Given the description of an element on the screen output the (x, y) to click on. 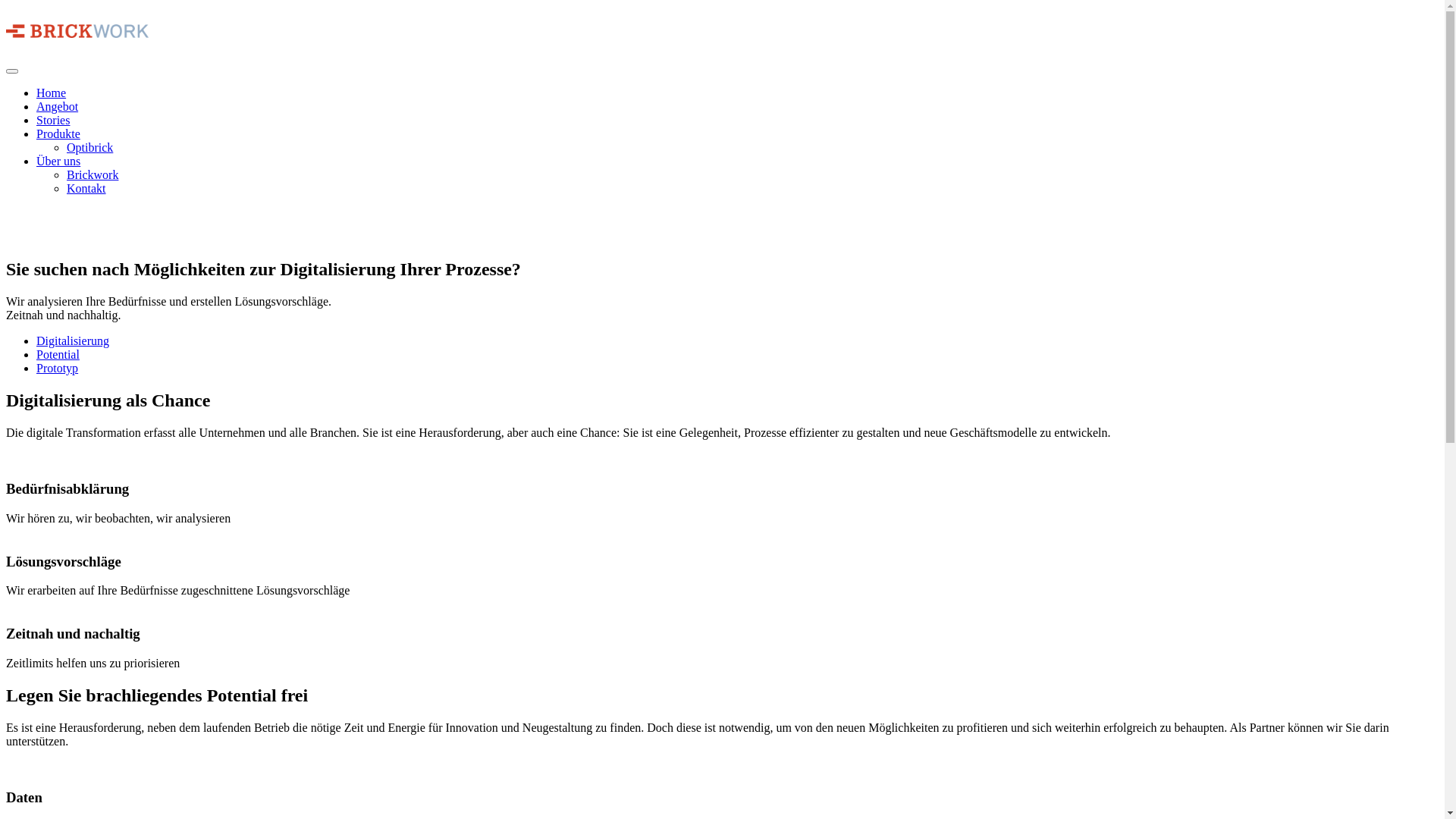
Potential Element type: text (57, 354)
Digitalisierung Element type: text (72, 340)
Angebot Element type: text (57, 106)
Prototyp Element type: text (57, 367)
Stories Element type: text (52, 119)
Home Element type: text (50, 92)
Optibrick Element type: text (89, 147)
Brickwork Element type: text (92, 174)
Kontakt Element type: text (86, 188)
Produkte Element type: text (58, 133)
